Given the description of an element on the screen output the (x, y) to click on. 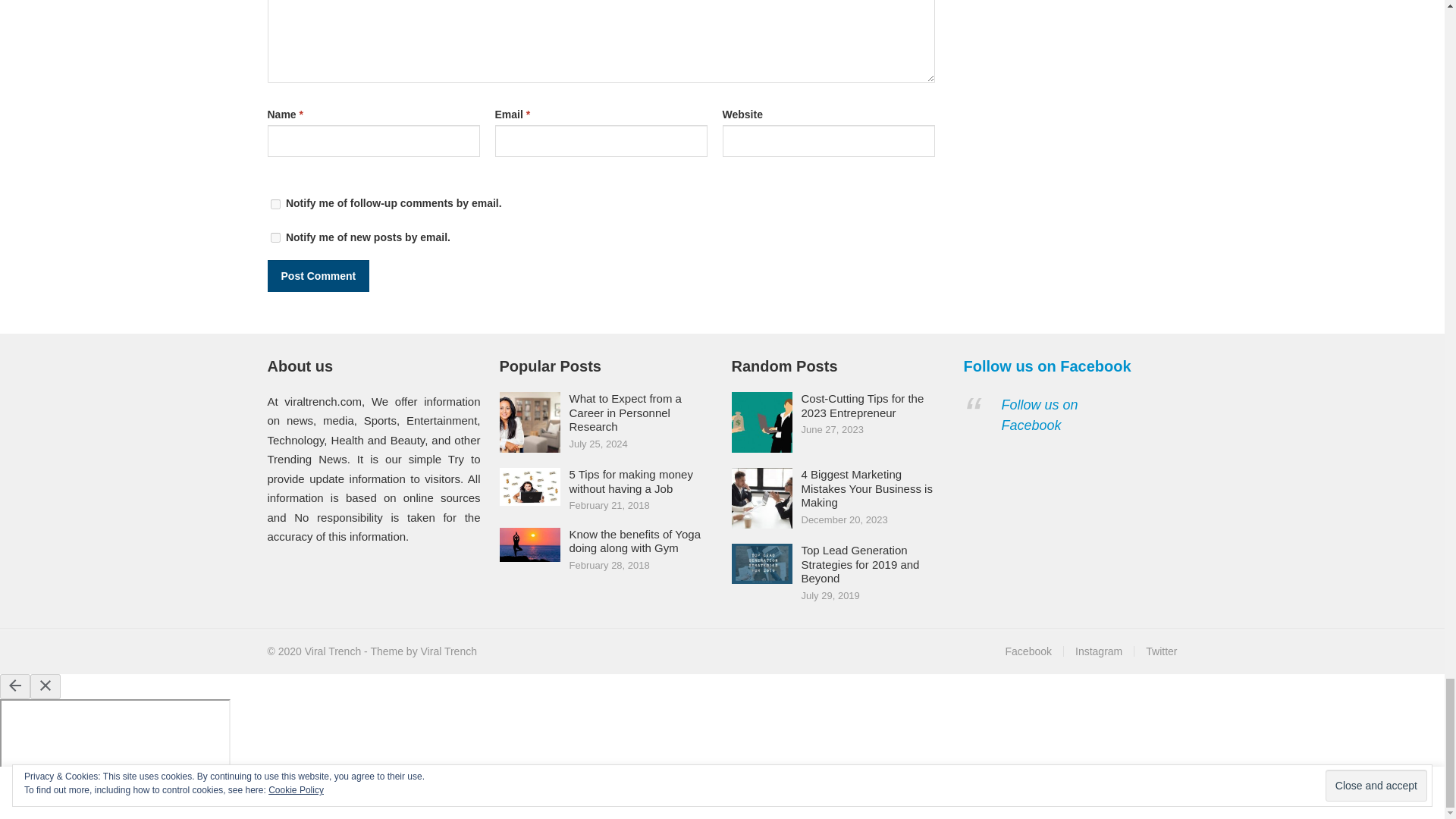
Post Comment (317, 275)
subscribe (274, 204)
subscribe (274, 237)
